Given the description of an element on the screen output the (x, y) to click on. 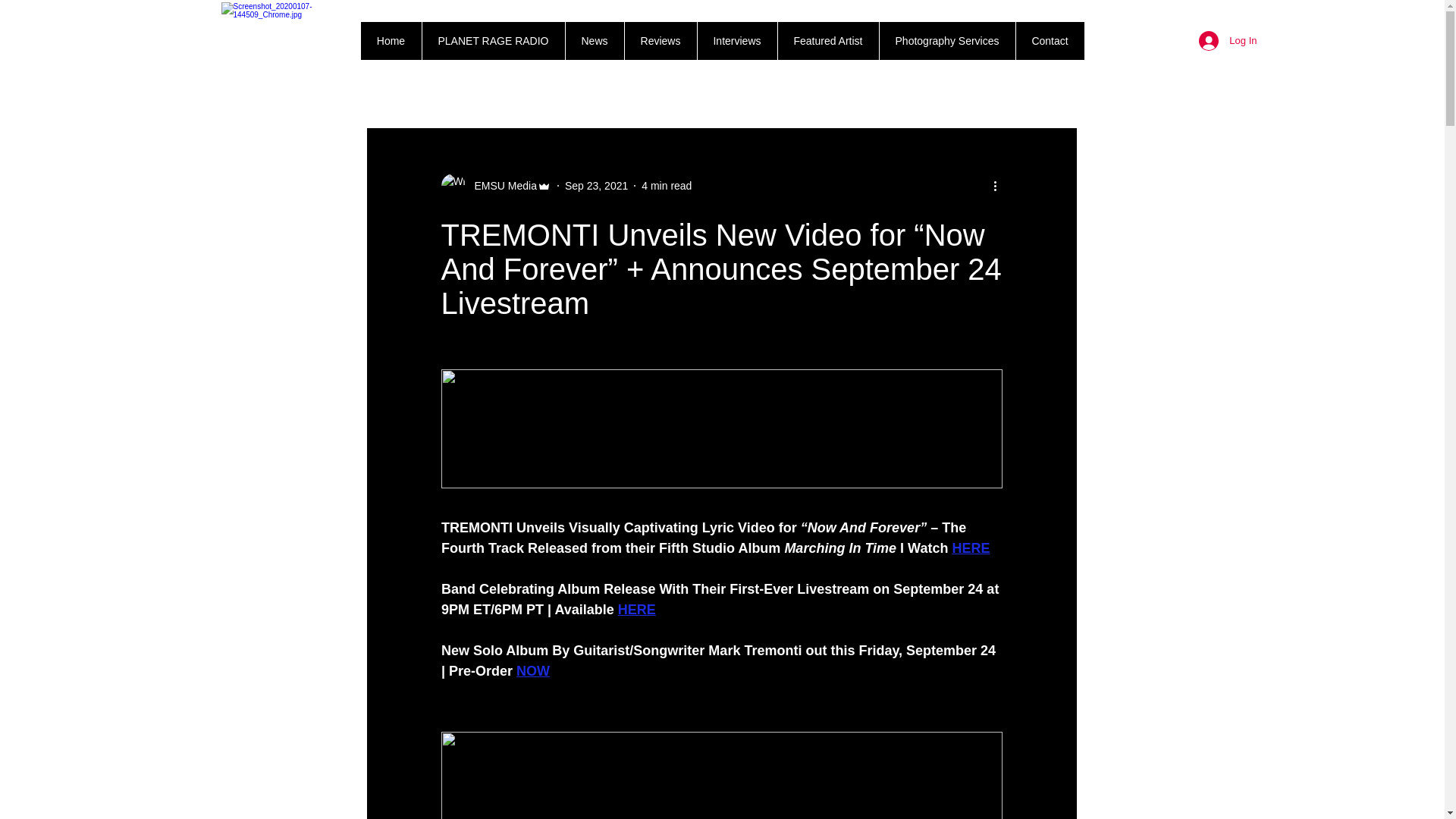
HERE (971, 548)
Log In (1227, 40)
EMSU Media (496, 185)
NOW (533, 670)
EMSU Media (501, 185)
HERE (636, 609)
Featured Artist (826, 40)
Interviews (735, 40)
Home (391, 40)
Contact (1048, 40)
